Given the description of an element on the screen output the (x, y) to click on. 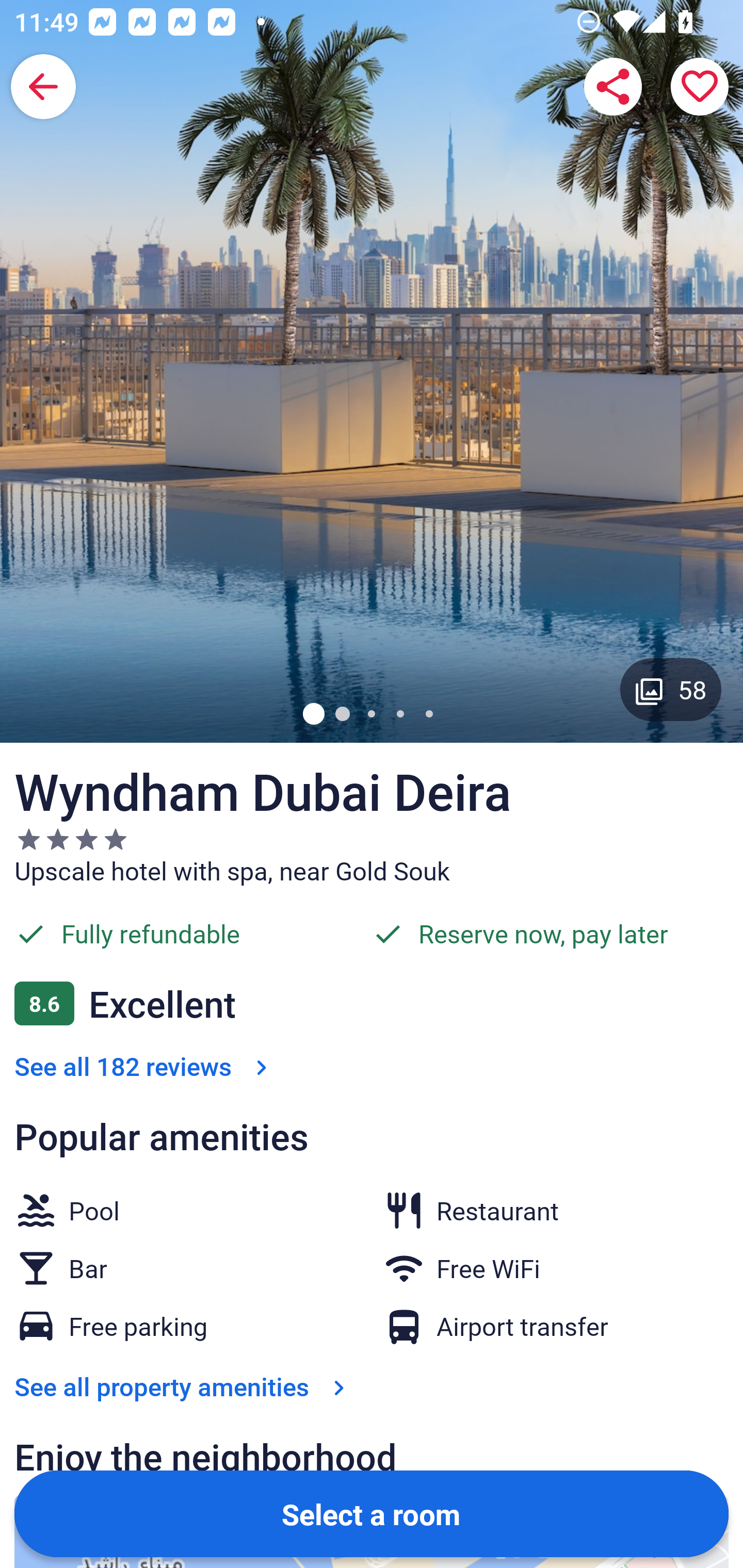
Back (43, 86)
Save property to a trip (699, 86)
Share Wyndham Dubai Deira (612, 87)
Gallery button with 58 images (670, 689)
See all 182 reviews See all 182 reviews Link (144, 1066)
See all property amenities (183, 1386)
Select a room Button Select a room (371, 1513)
